Given the description of an element on the screen output the (x, y) to click on. 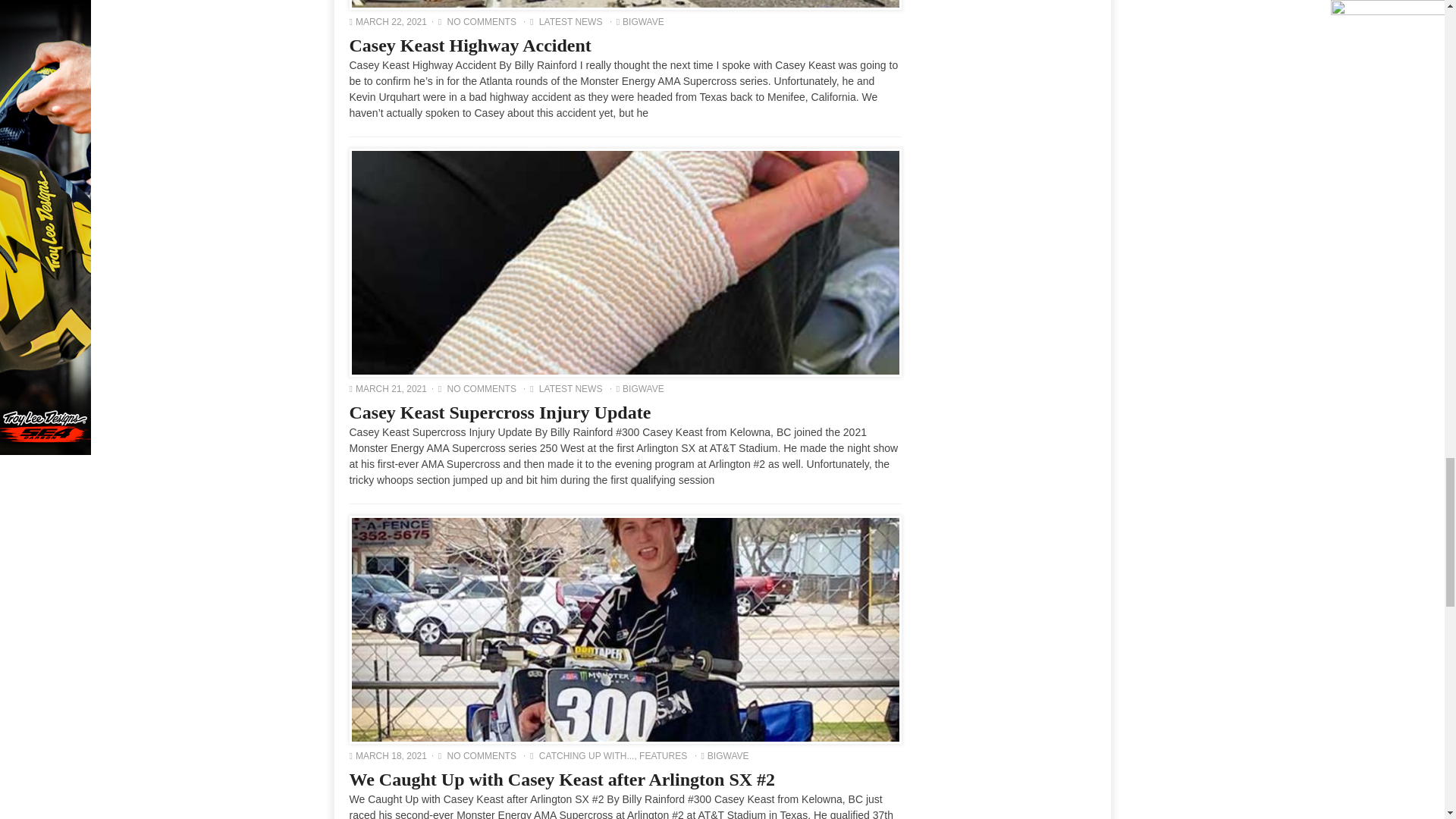
Posts by Bigwave (643, 21)
Casey Keast Supercross Injury Update (625, 262)
Casey Keast Highway Accident (625, 4)
